Given the description of an element on the screen output the (x, y) to click on. 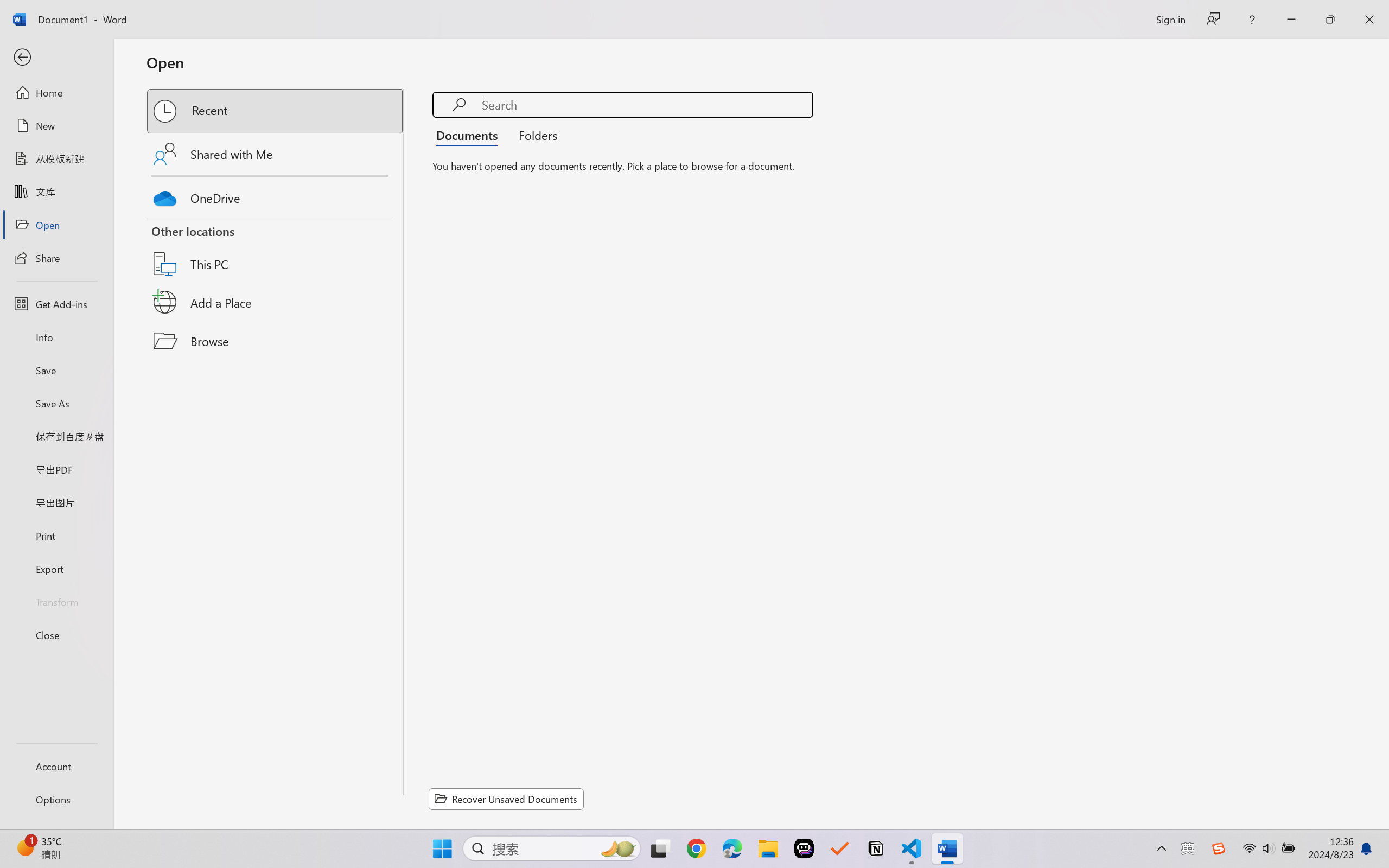
This PC (275, 249)
OneDrive (275, 195)
Account (56, 765)
Info (56, 337)
Add a Place (275, 302)
Get Add-ins (56, 303)
